Given the description of an element on the screen output the (x, y) to click on. 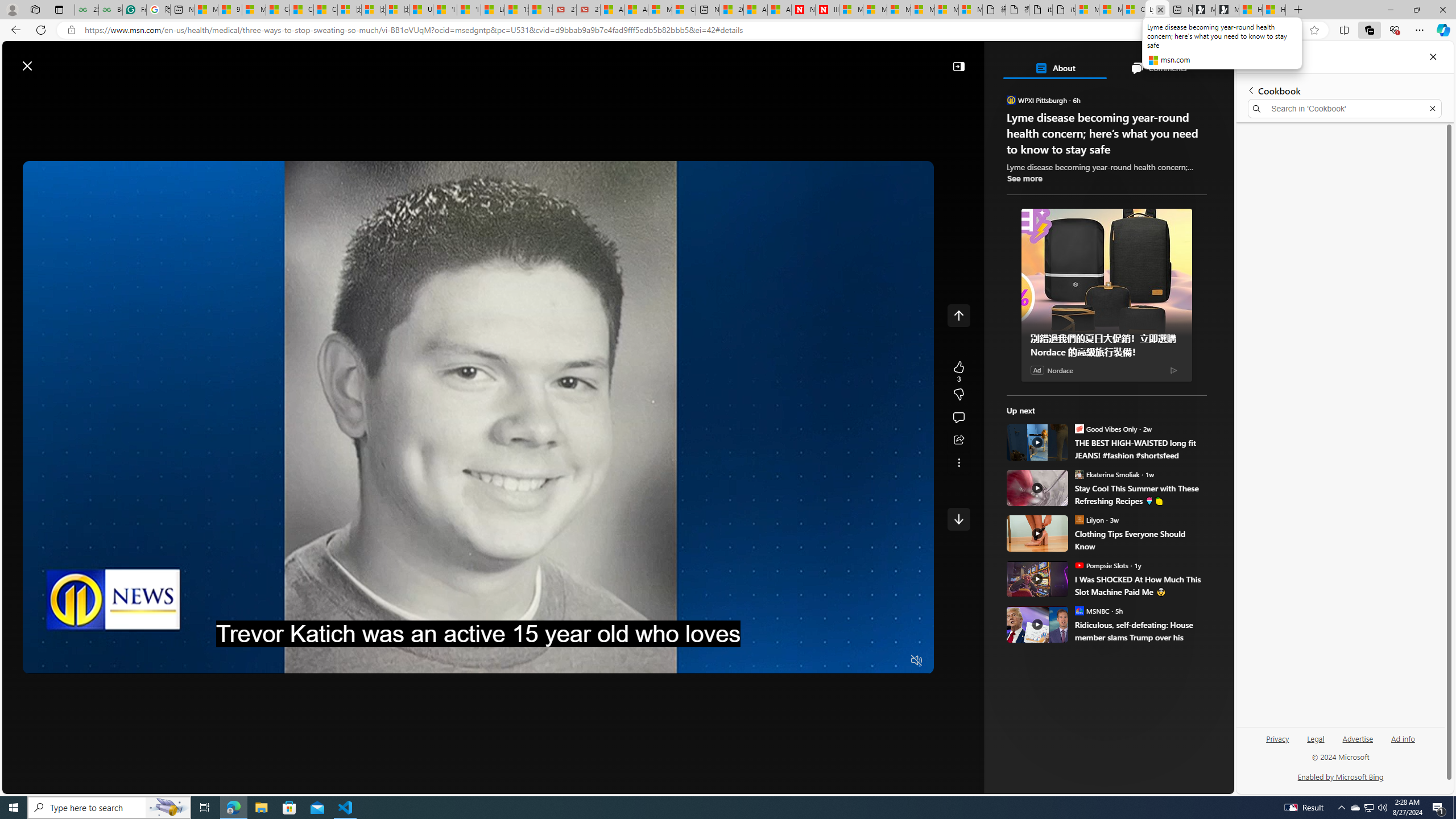
Web search (415, 60)
To get missing image descriptions, open the context menu. (1000, 92)
Open Copilot (819, 59)
Best SSL Certificates Provider in India - GeeksforGeeks (110, 9)
App bar (728, 29)
Back to list of collections (1250, 90)
Enhance video (1291, 29)
Dislike (958, 394)
Newsweek - News, Analysis, Politics, Business, Technology (802, 9)
Illness news & latest pictures from Newsweek.com (827, 9)
Seek Forward (85, 660)
AutomationID: e5rZOEMGacU1 (958, 518)
Close tab (1160, 9)
